Given the description of an element on the screen output the (x, y) to click on. 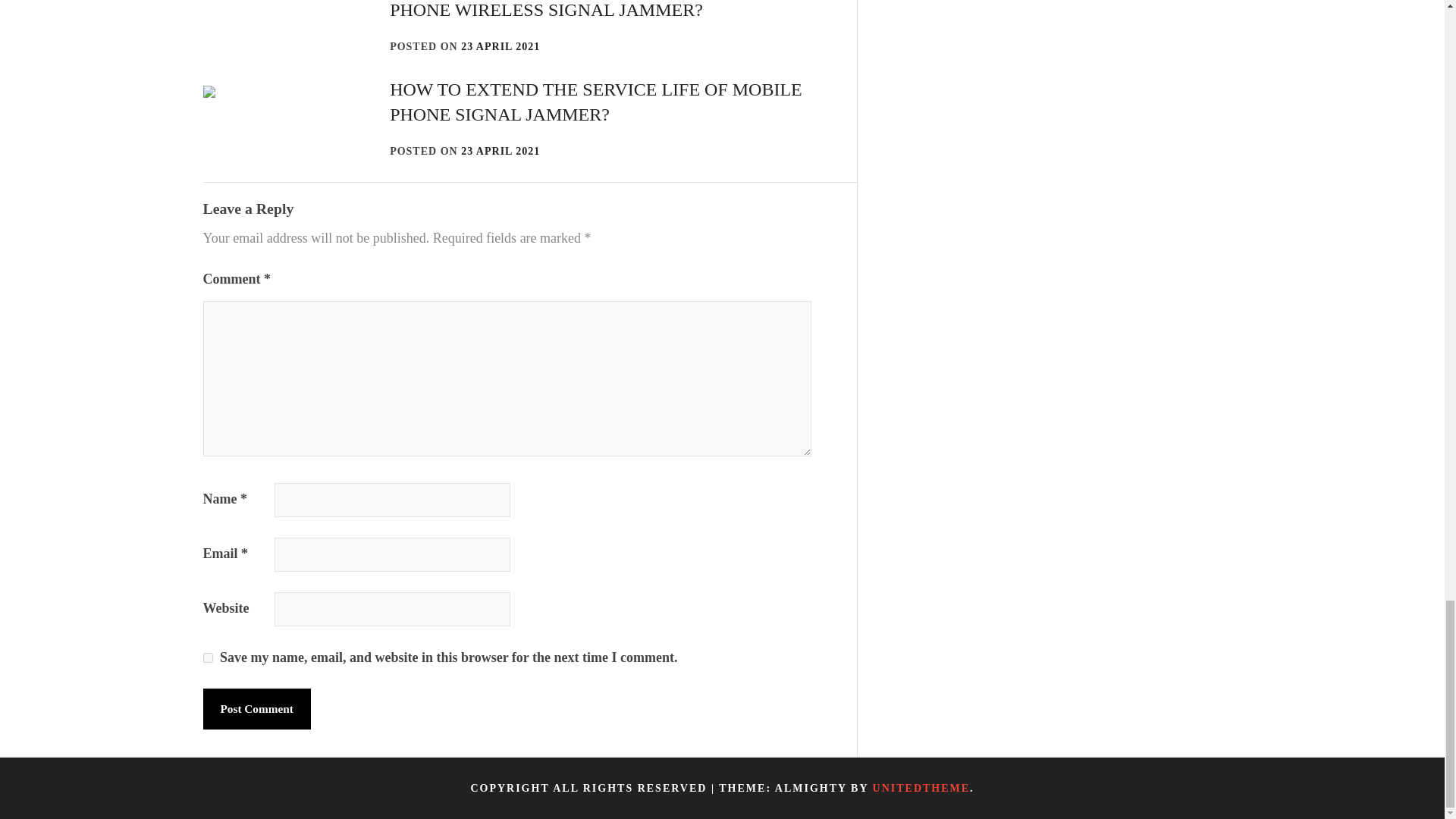
Post Comment (257, 708)
23 APRIL 2021 (500, 46)
23 APRIL 2021 (500, 151)
Post Comment (257, 708)
yes (207, 657)
